Given the description of an element on the screen output the (x, y) to click on. 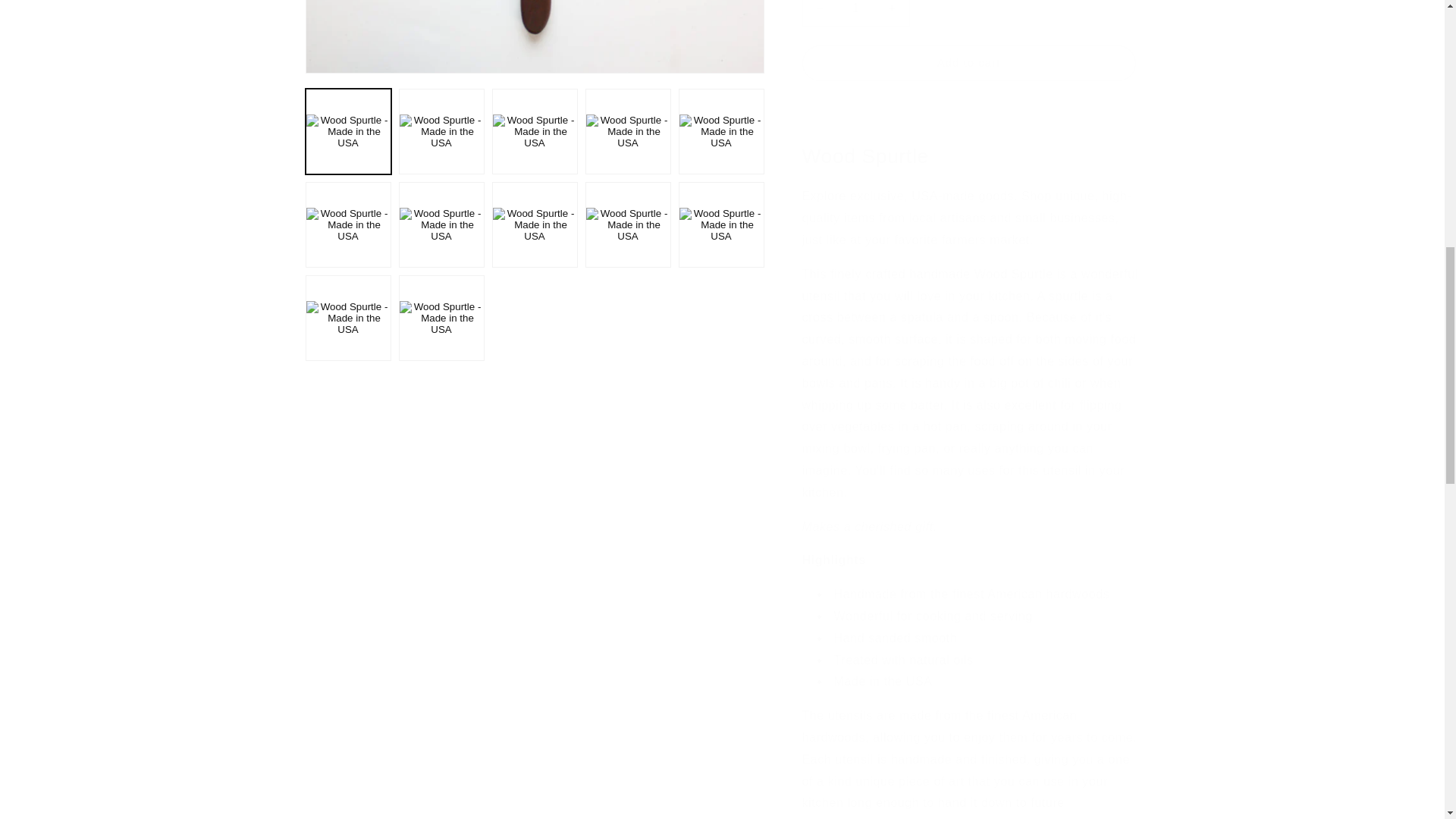
1 (856, 13)
Open media 1 in modal (533, 36)
